Given the description of an element on the screen output the (x, y) to click on. 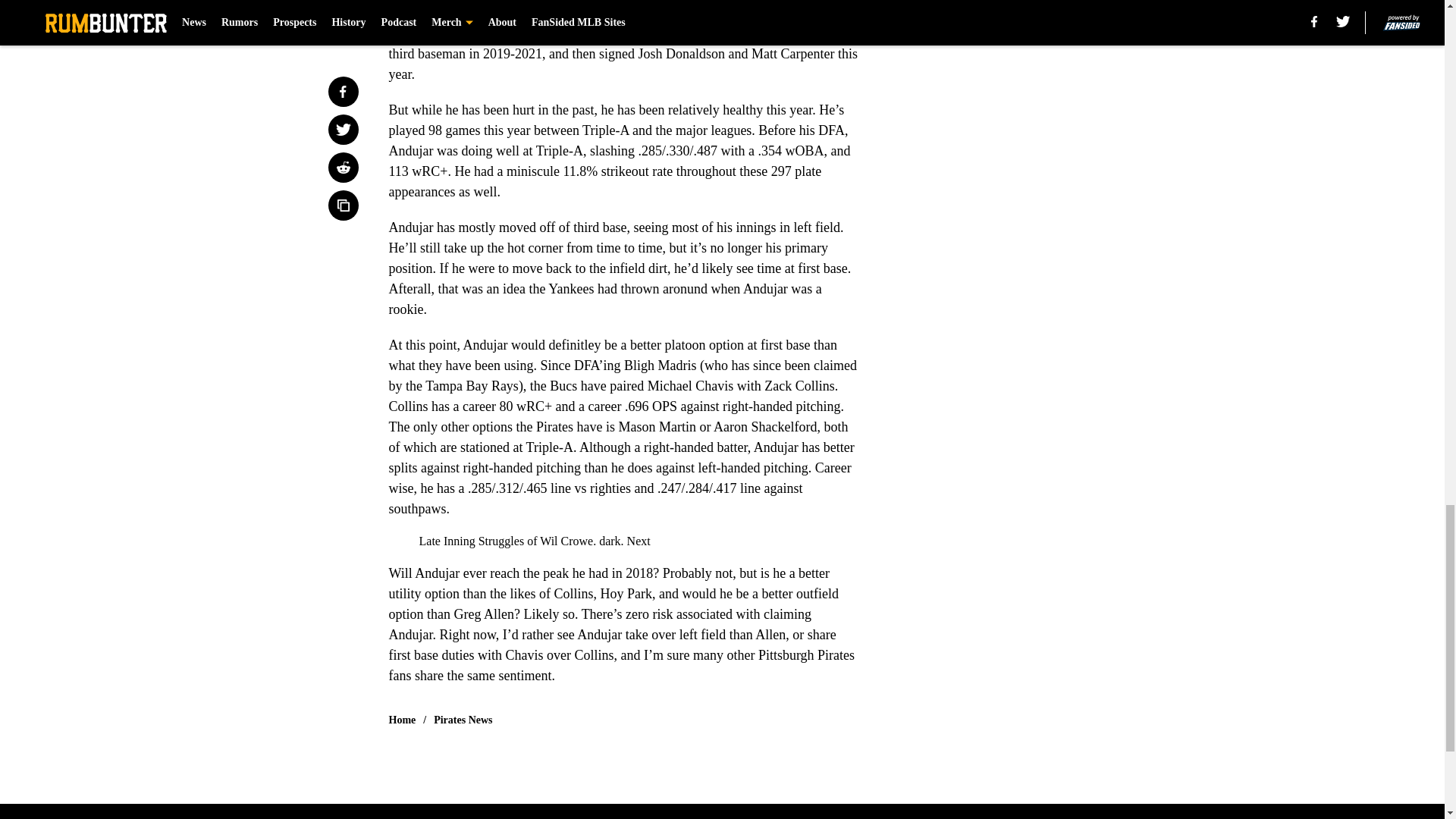
Home (401, 720)
Pirates News (462, 720)
